Given the description of an element on the screen output the (x, y) to click on. 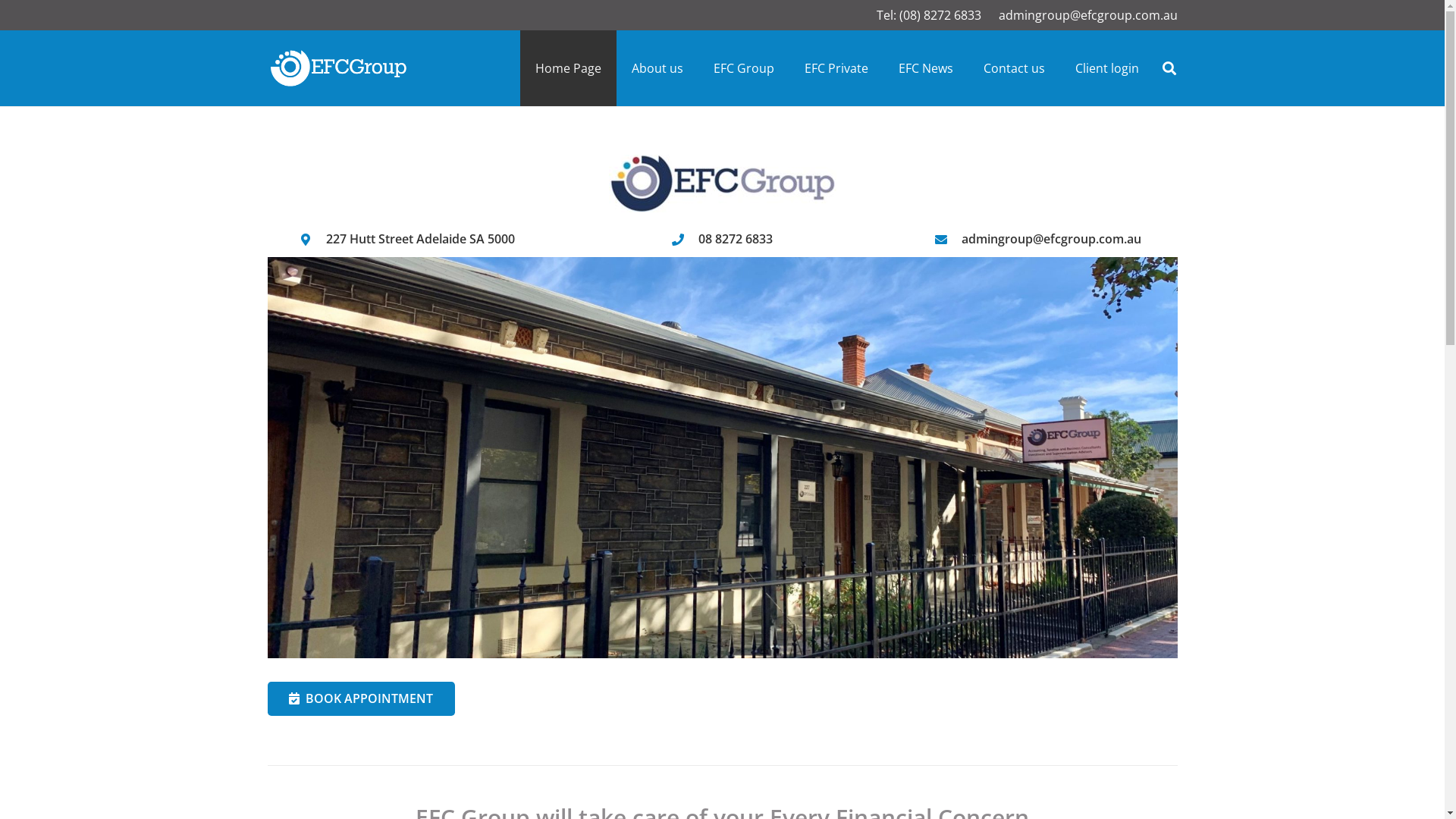
About us Element type: text (657, 68)
EFC Group Element type: text (743, 68)
Tel: (08) 8272 6833 Element type: text (928, 14)
admingroup@efcgroup.com.au Element type: text (1086, 14)
EFC News Element type: text (925, 68)
Client login Element type: text (1107, 68)
Contact us Element type: text (1014, 68)
BOOK APPOINTMENT Element type: text (360, 698)
Home Page Element type: text (568, 68)
EFC Private Element type: text (836, 68)
